Given the description of an element on the screen output the (x, y) to click on. 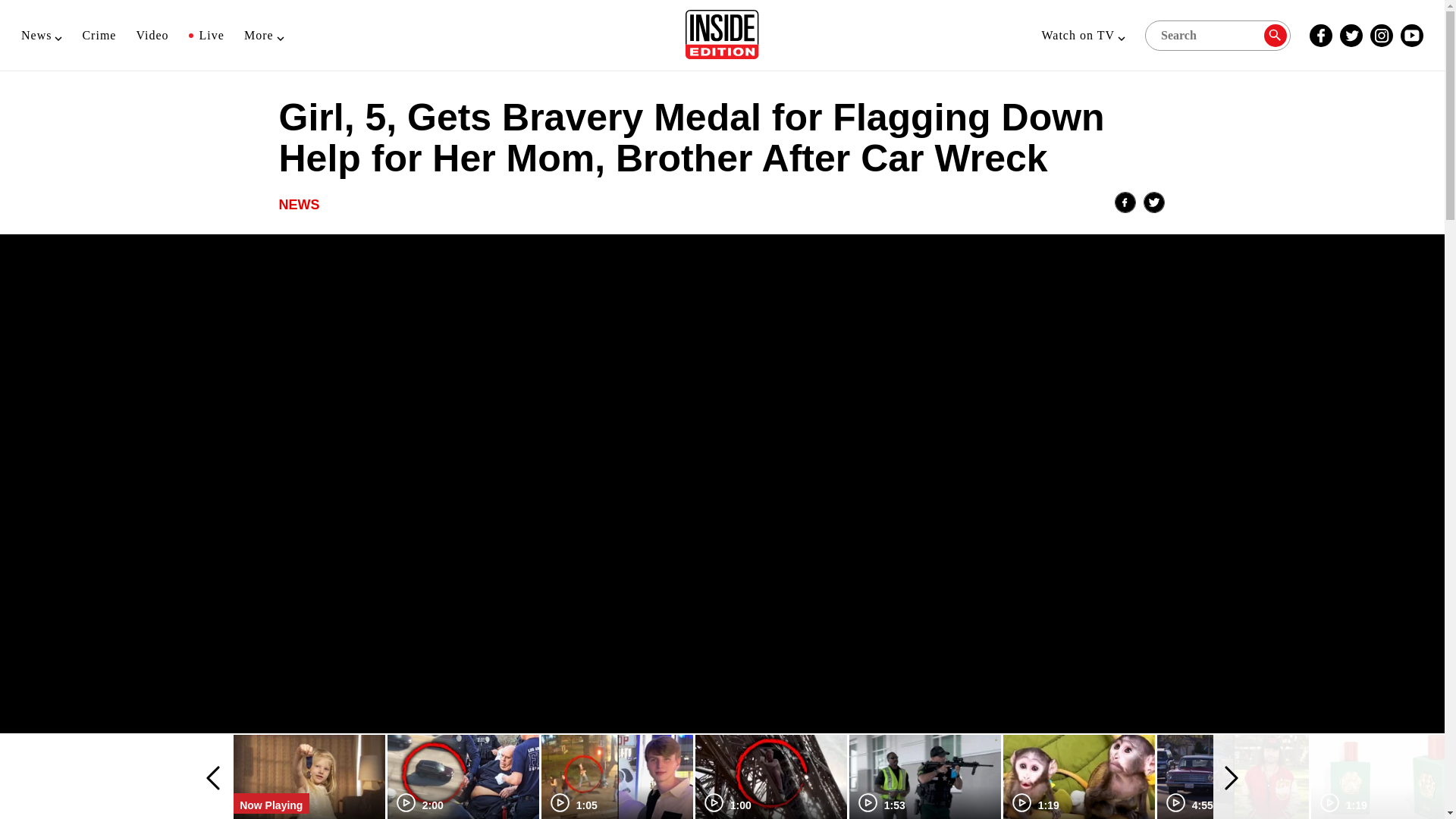
Crime (98, 35)
News (41, 35)
Enter the terms you wish to search for. (1217, 34)
Live (206, 35)
More (263, 35)
Video (151, 35)
Watch on TV (1083, 35)
